Given the description of an element on the screen output the (x, y) to click on. 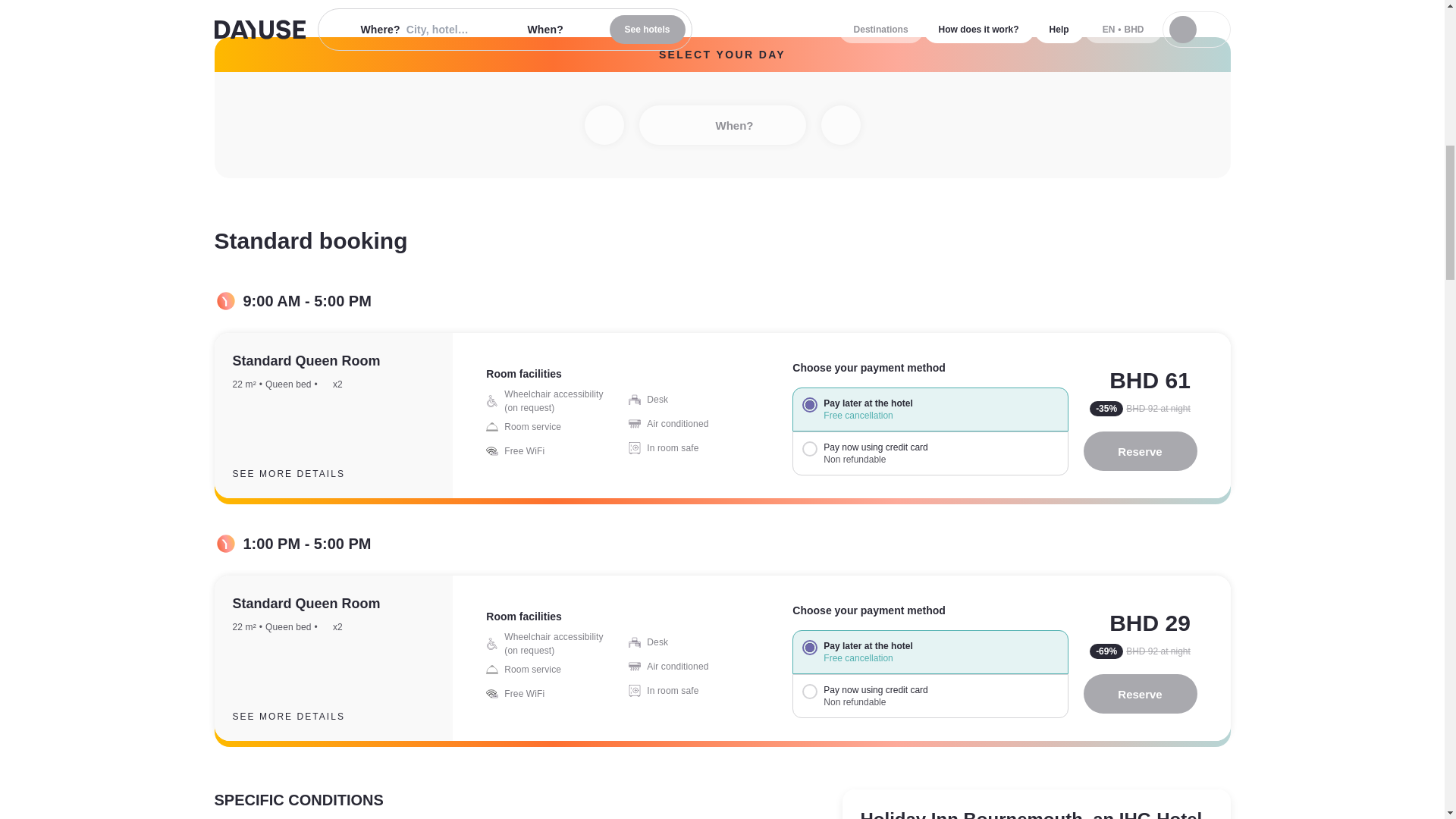
on (809, 404)
Previous day (603, 124)
Next day (840, 124)
SEE MORE DETAILS (300, 716)
When? (722, 124)
on (809, 691)
Reserve (1139, 693)
SEE MORE DETAILS (300, 474)
on (809, 647)
Reserve (1139, 450)
